Given the description of an element on the screen output the (x, y) to click on. 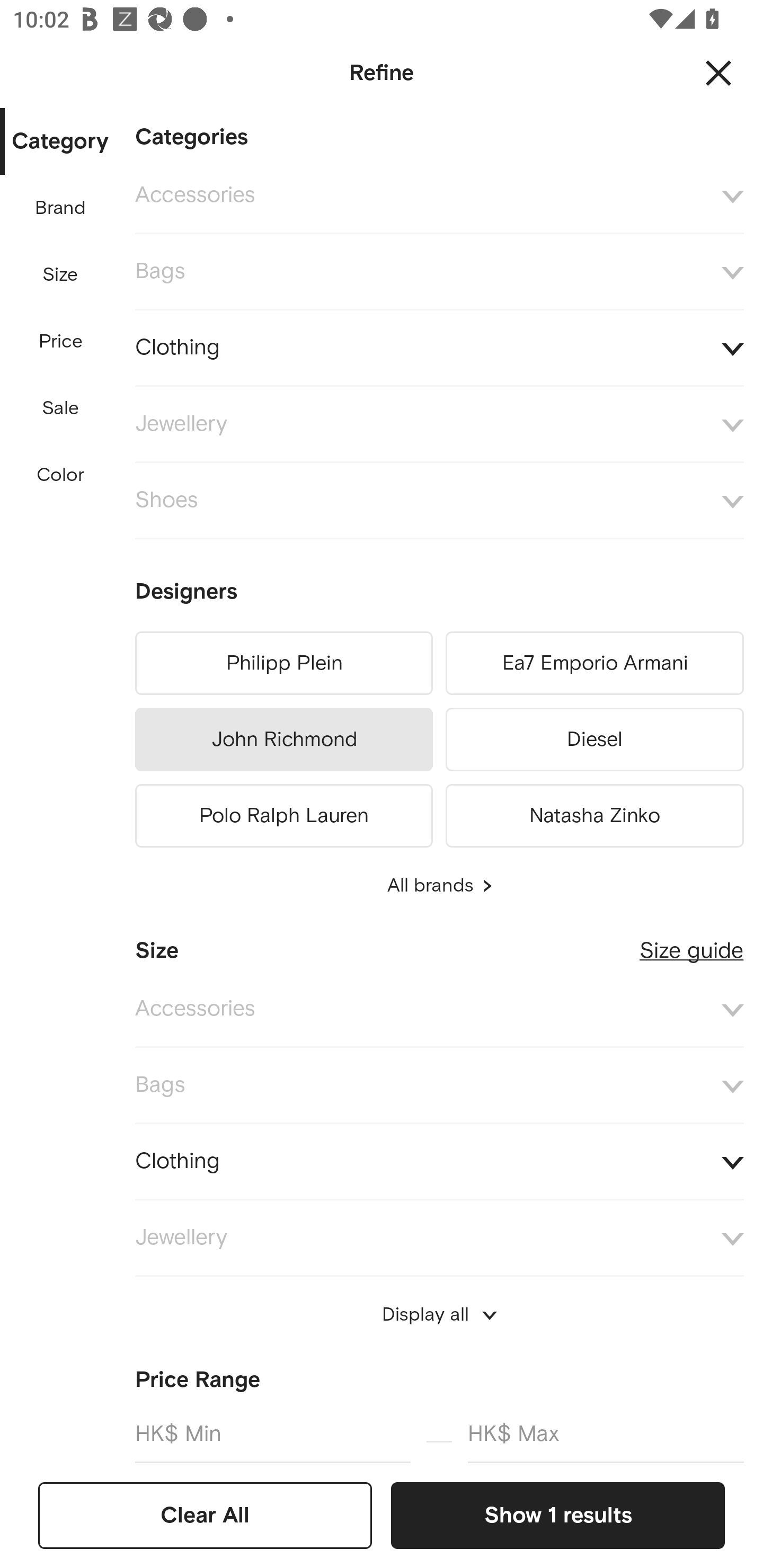
Category (60, 141)
Accessories (439, 194)
Brand (60, 208)
Bags (439, 271)
Size (60, 274)
Price (60, 342)
Clothing (439, 347)
Sale (60, 408)
Jewellery (439, 423)
Color (60, 475)
Shoes (439, 500)
Philipp Plein (283, 662)
Ea7 Emporio Armani (594, 662)
John Richmond (283, 738)
Diesel (594, 738)
Polo Ralph Lauren (283, 812)
Natasha Zinko (594, 812)
All brands (439, 885)
Size guide (691, 942)
Accessories (439, 1008)
Bags (439, 1085)
Clothing (439, 1161)
Jewellery (439, 1237)
Display all (439, 1314)
HK$ Min (272, 1432)
HK$ Max (605, 1432)
Clear All (205, 1515)
Show 1 results (557, 1515)
